Given the description of an element on the screen output the (x, y) to click on. 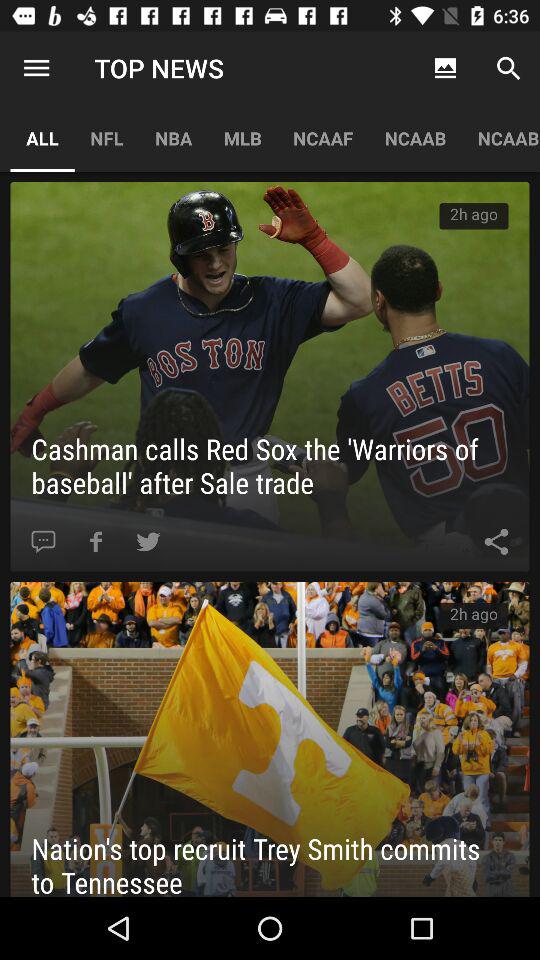
click the item to the left of the nfl icon (36, 68)
